Given the description of an element on the screen output the (x, y) to click on. 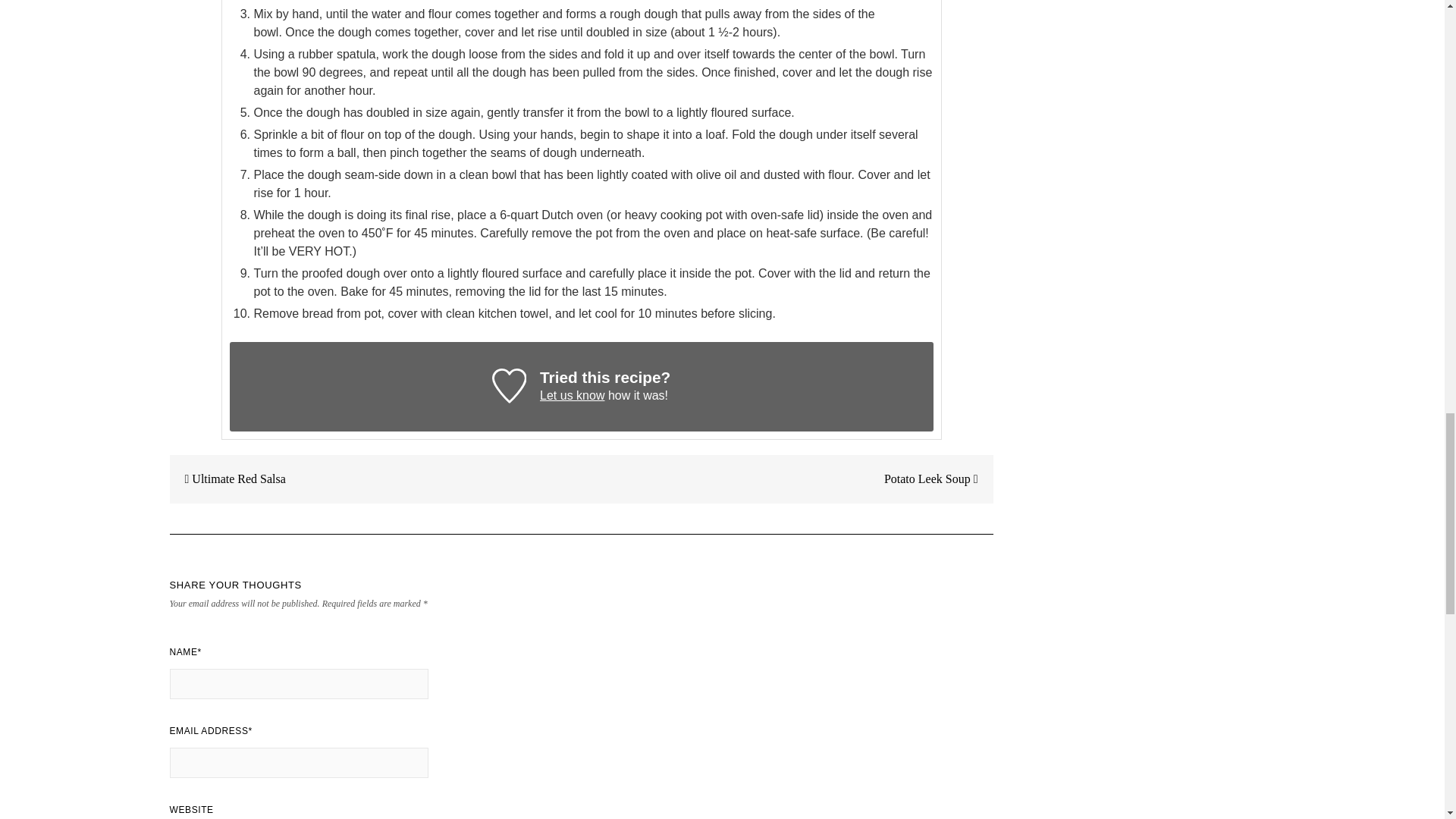
Let us know (572, 395)
Potato Leek Soup (937, 479)
Ultimate Red Salsa (227, 479)
